Given the description of an element on the screen output the (x, y) to click on. 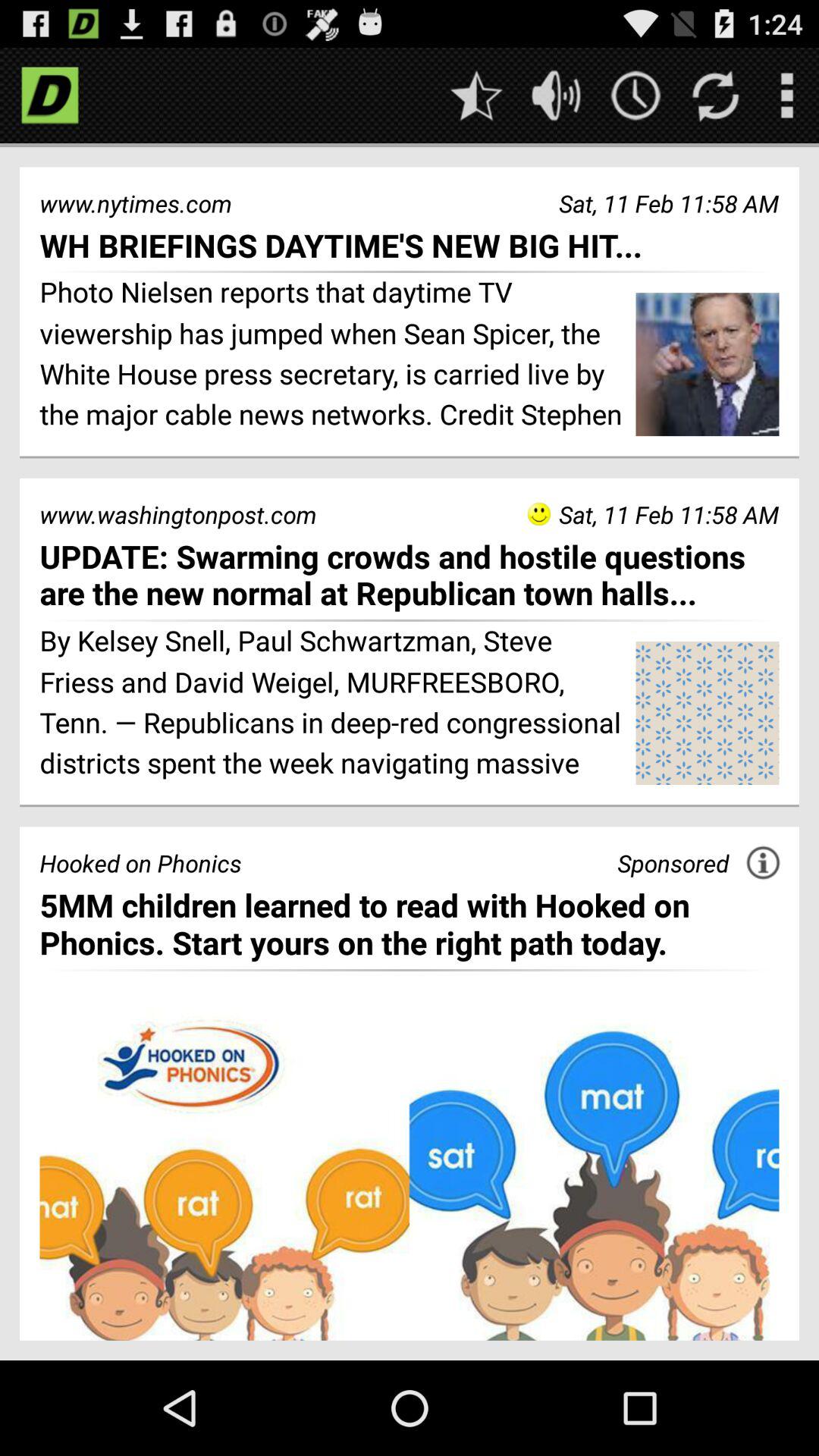
tap item to the left of sat 11 feb item (539, 514)
